Given the description of an element on the screen output the (x, y) to click on. 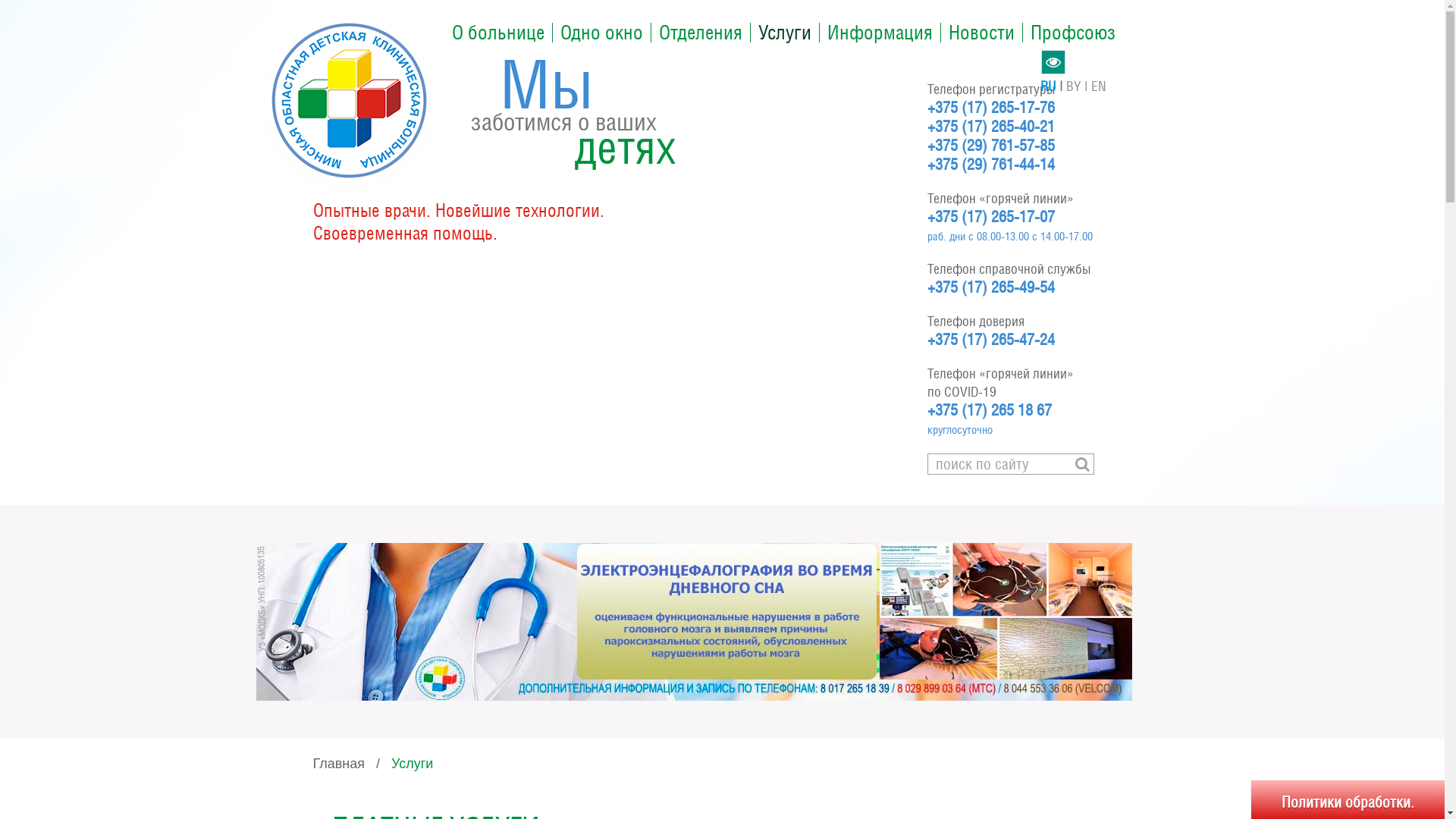
BY Element type: text (1078, 86)
BPU Element type: hover (694, 620)
EN Element type: text (1098, 86)
RU Element type: text (1053, 86)
